Given the description of an element on the screen output the (x, y) to click on. 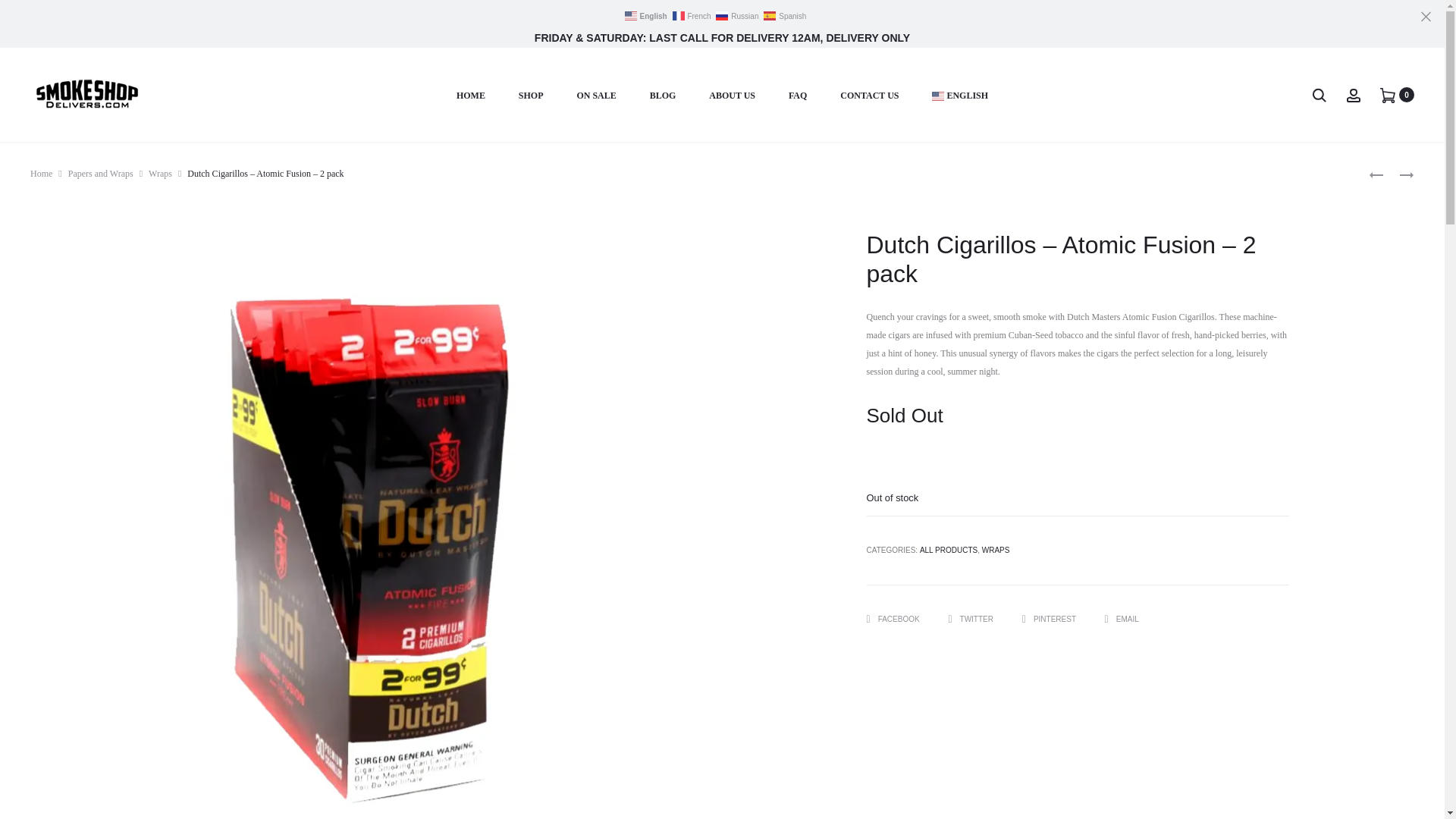
Account (1353, 94)
0 (1387, 94)
English (646, 15)
English (959, 96)
HOME (470, 96)
BLOG (663, 96)
Russian (738, 15)
SHOP (530, 96)
GRABBA LEAF WRAPS NATURAL CIGAR (1398, 173)
ABOUT US (732, 96)
ON SALE (595, 96)
CONTACT US (869, 96)
FAQ (797, 96)
ENGLISH (959, 96)
